Given the description of an element on the screen output the (x, y) to click on. 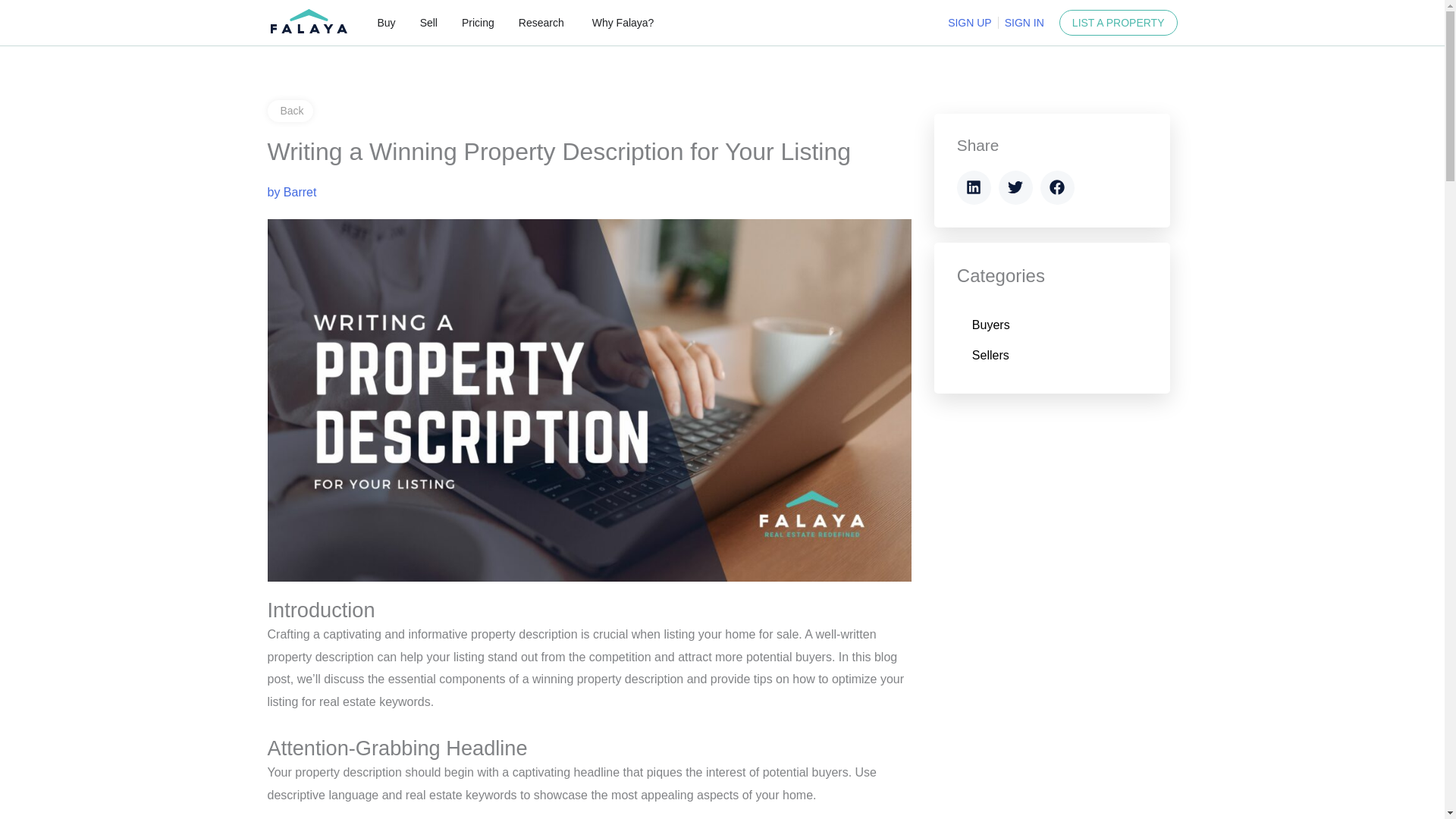
SIGN IN (1023, 22)
LIST A PROPERTY (1118, 22)
Pricing (478, 22)
SIGN UP (969, 22)
Sell (429, 22)
Buy (386, 22)
